Given the description of an element on the screen output the (x, y) to click on. 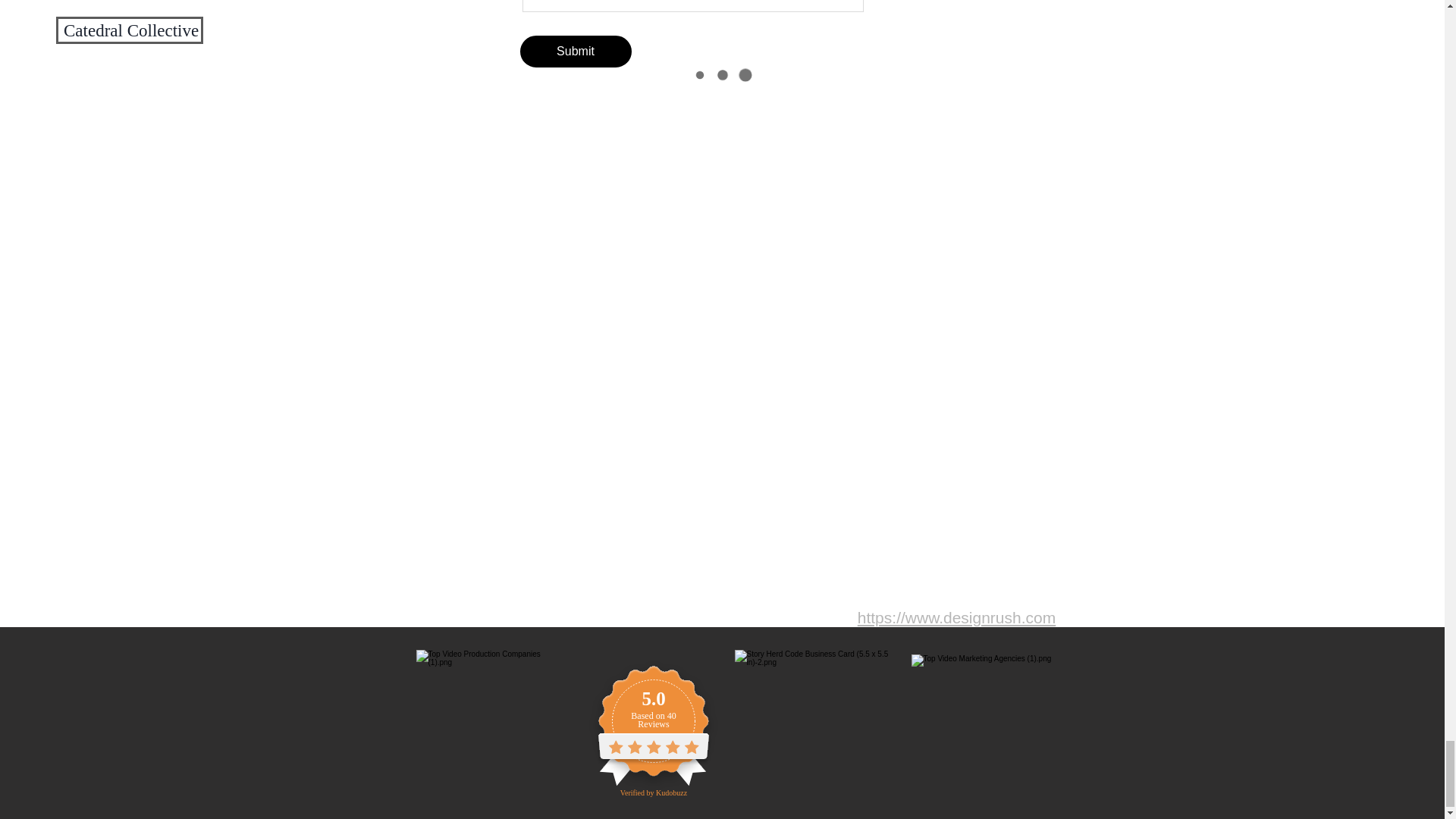
Embedded Content (669, 726)
Submit (575, 51)
